Given the description of an element on the screen output the (x, y) to click on. 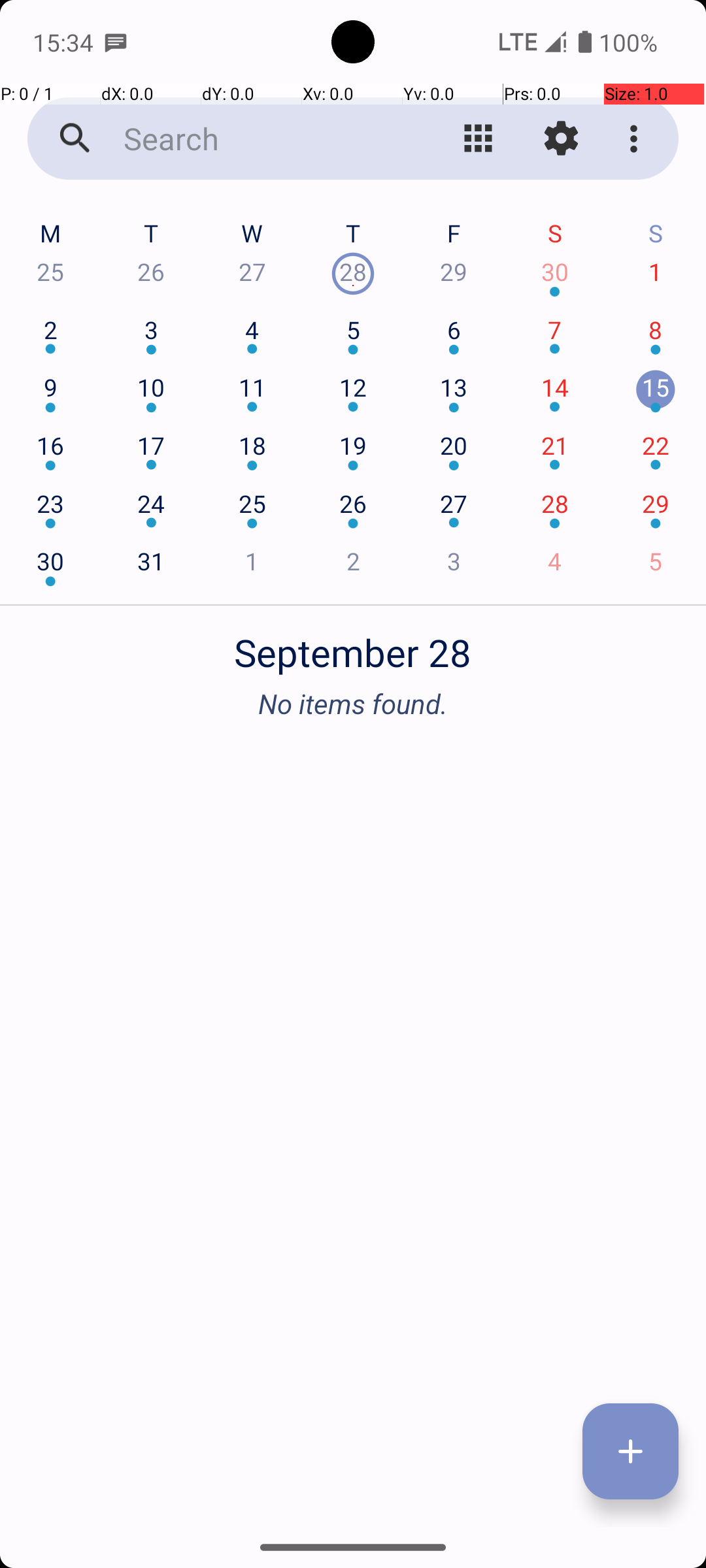
September 28 Element type: android.widget.TextView (352, 644)
